Given the description of an element on the screen output the (x, y) to click on. 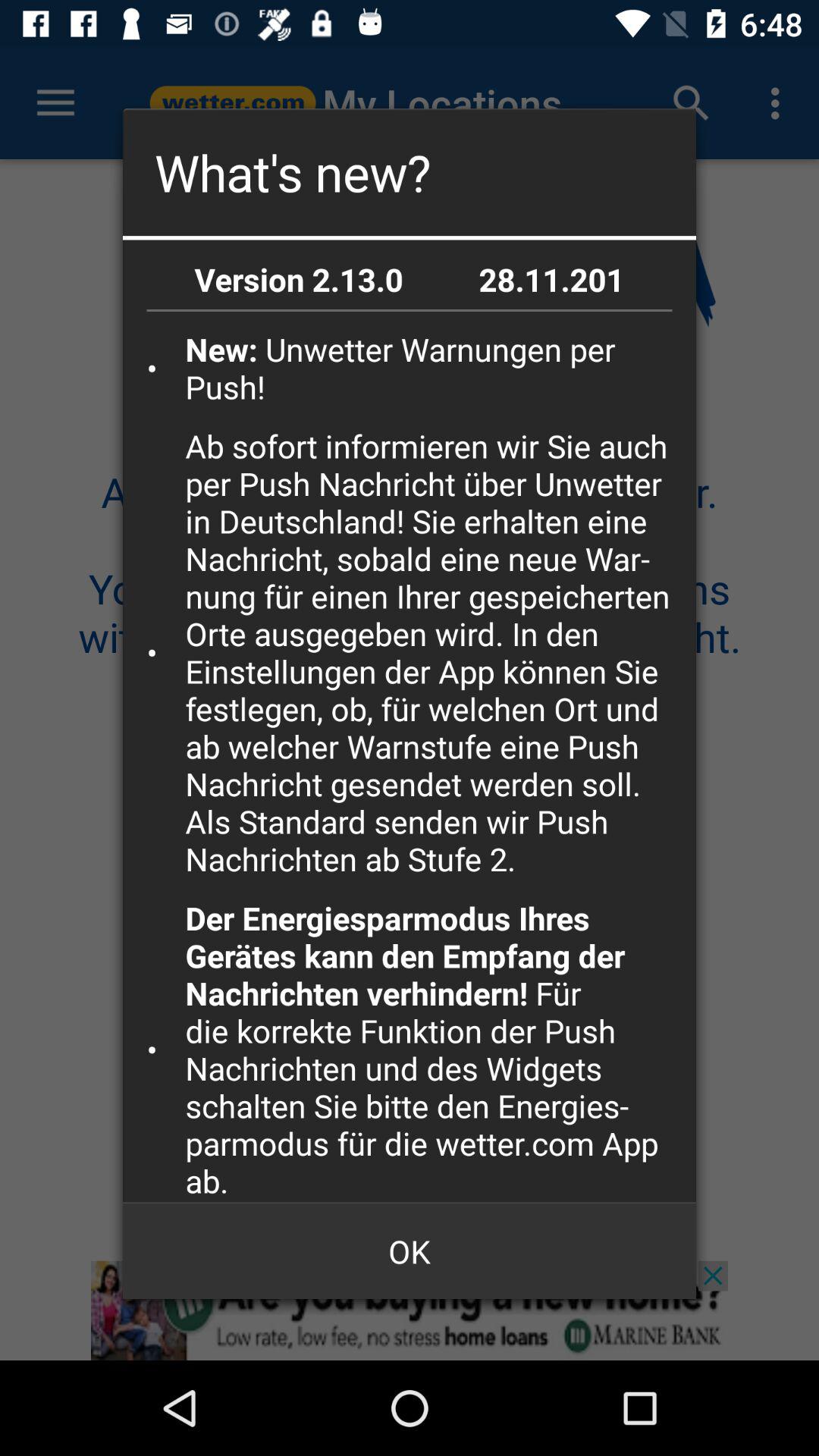
turn off ok (409, 1251)
